Given the description of an element on the screen output the (x, y) to click on. 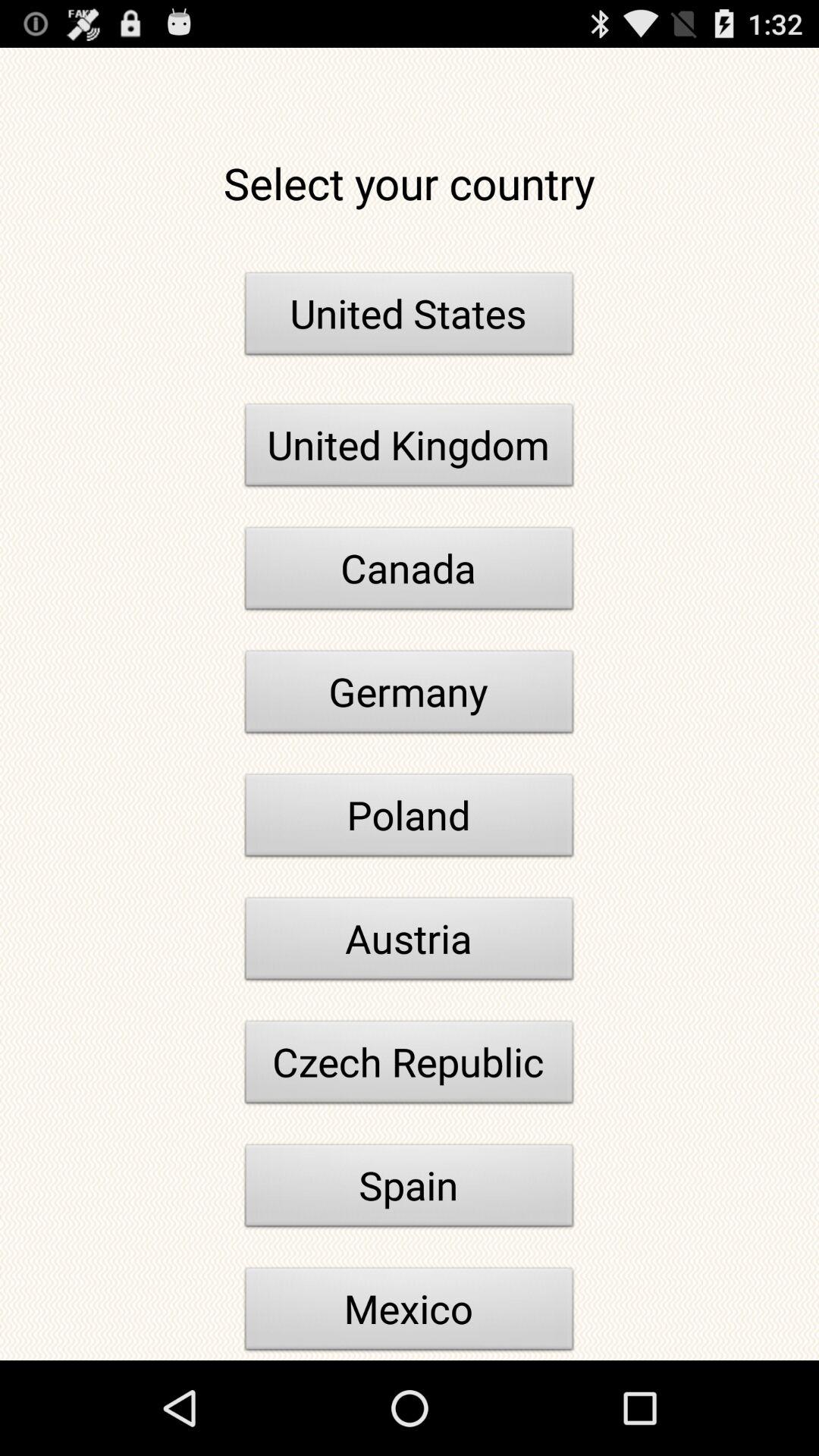
jump until canada button (409, 572)
